Given the description of an element on the screen output the (x, y) to click on. 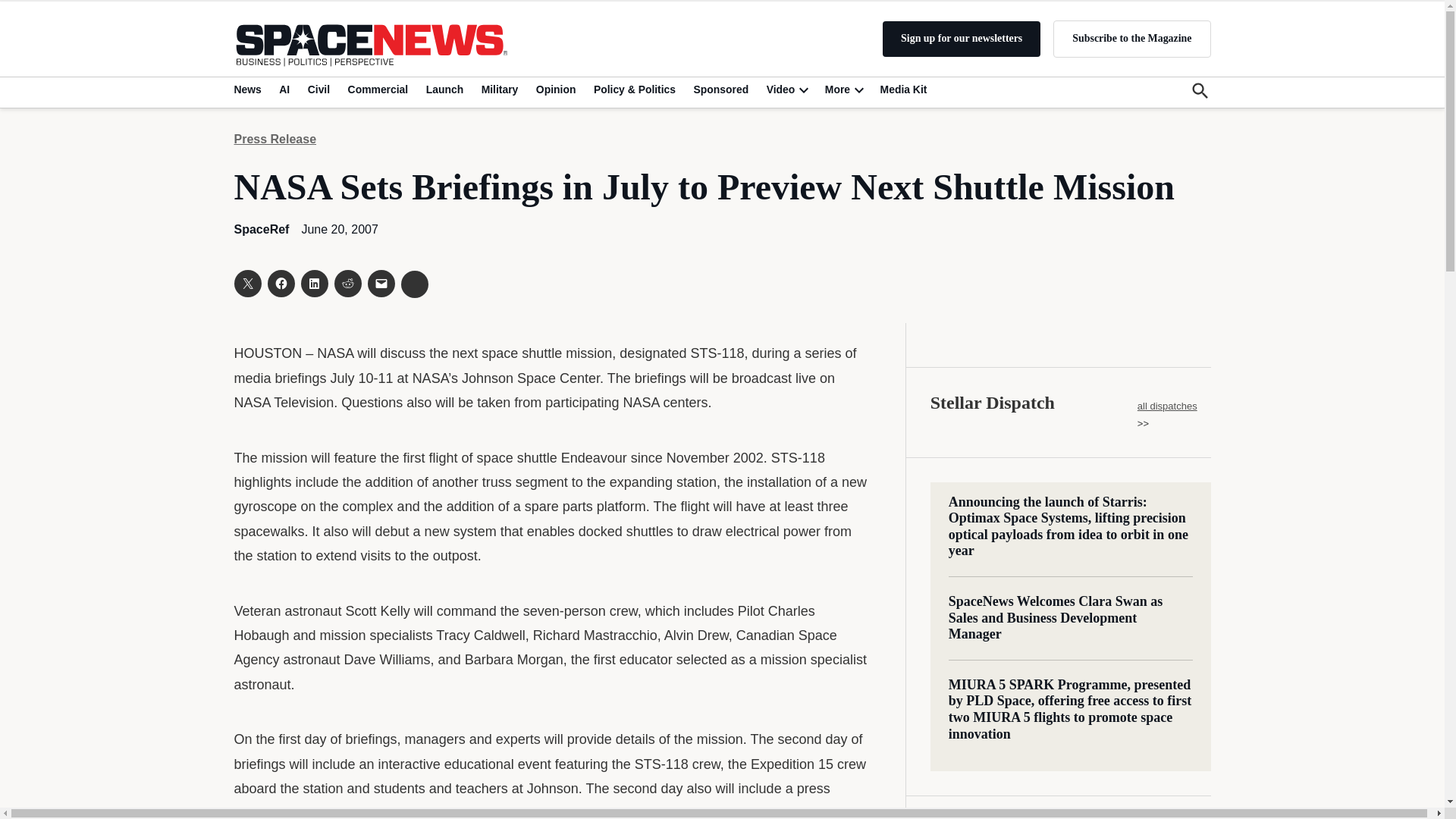
Click to email a link to a friend (380, 283)
Subscribe to the Magazine (1130, 38)
Click to share on Facebook (280, 283)
Click to share on Reddit (347, 283)
AI (284, 89)
Click to share on Clipboard (414, 284)
Sign up for our newsletters (961, 38)
News (249, 89)
Click to share on X (246, 283)
Click to share on LinkedIn (313, 283)
